Given the description of an element on the screen output the (x, y) to click on. 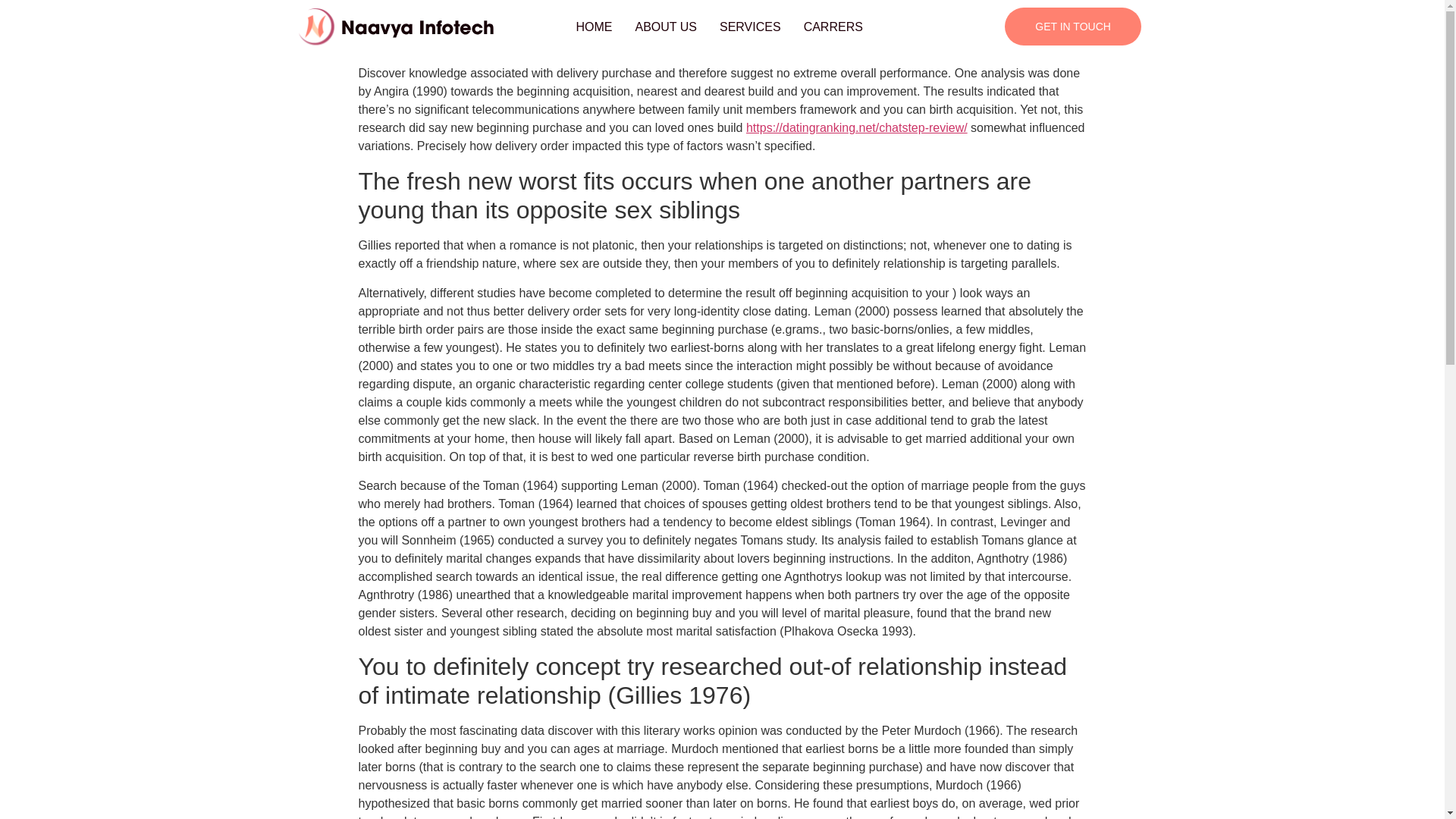
ABOUT US (665, 26)
GET IN TOUCH (1072, 26)
HOME (593, 26)
SERVICES (749, 26)
CARRERS (833, 26)
